Given the description of an element on the screen output the (x, y) to click on. 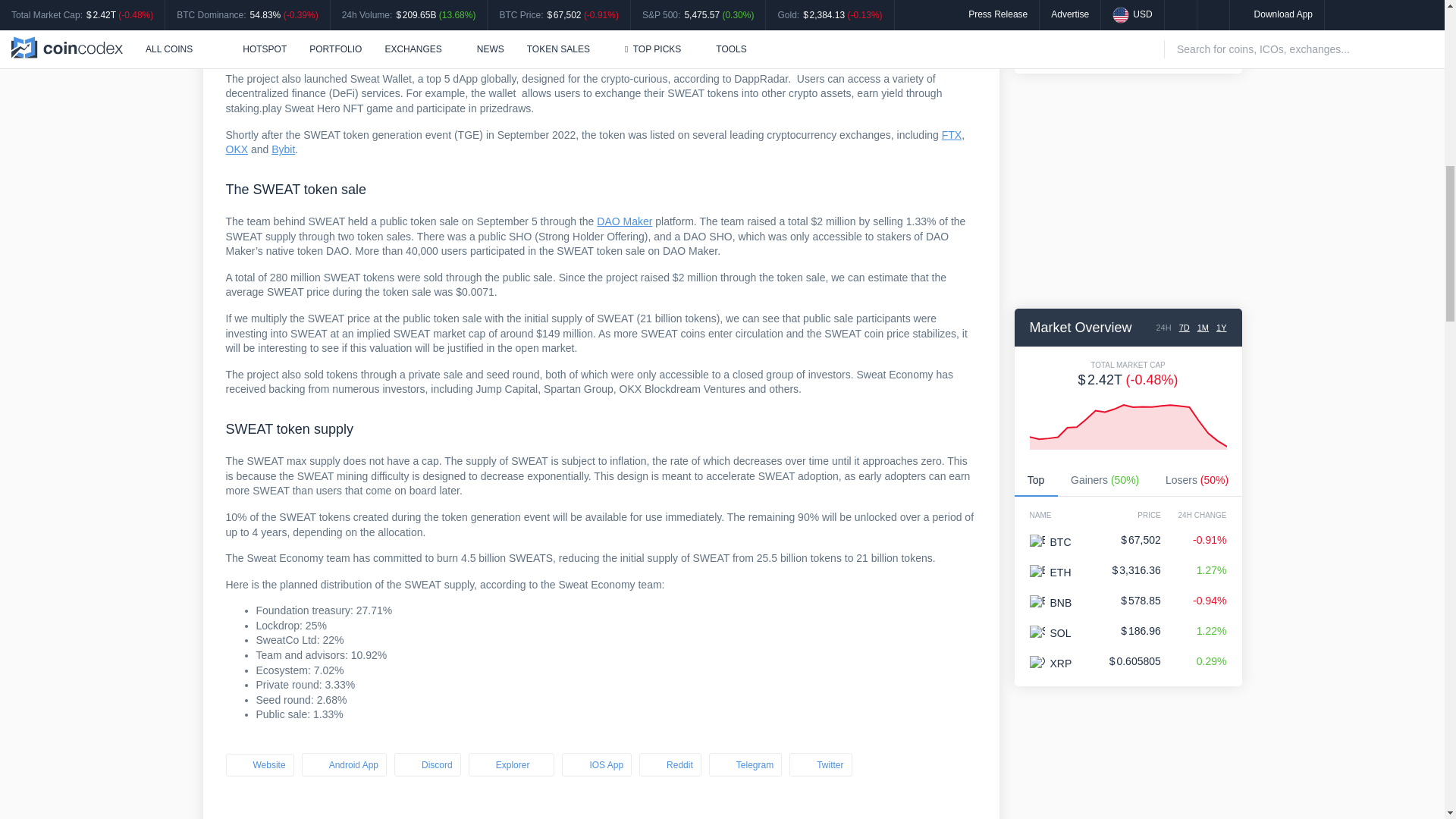
IOS App (596, 764)
Website (259, 764)
Android App (344, 764)
DAO Maker (624, 221)
Telegram (745, 764)
Reddit (670, 764)
Discord (427, 764)
OKX (236, 149)
Twitter (820, 764)
FTX (951, 134)
Bybit (282, 149)
Explorer (511, 764)
